Given the description of an element on the screen output the (x, y) to click on. 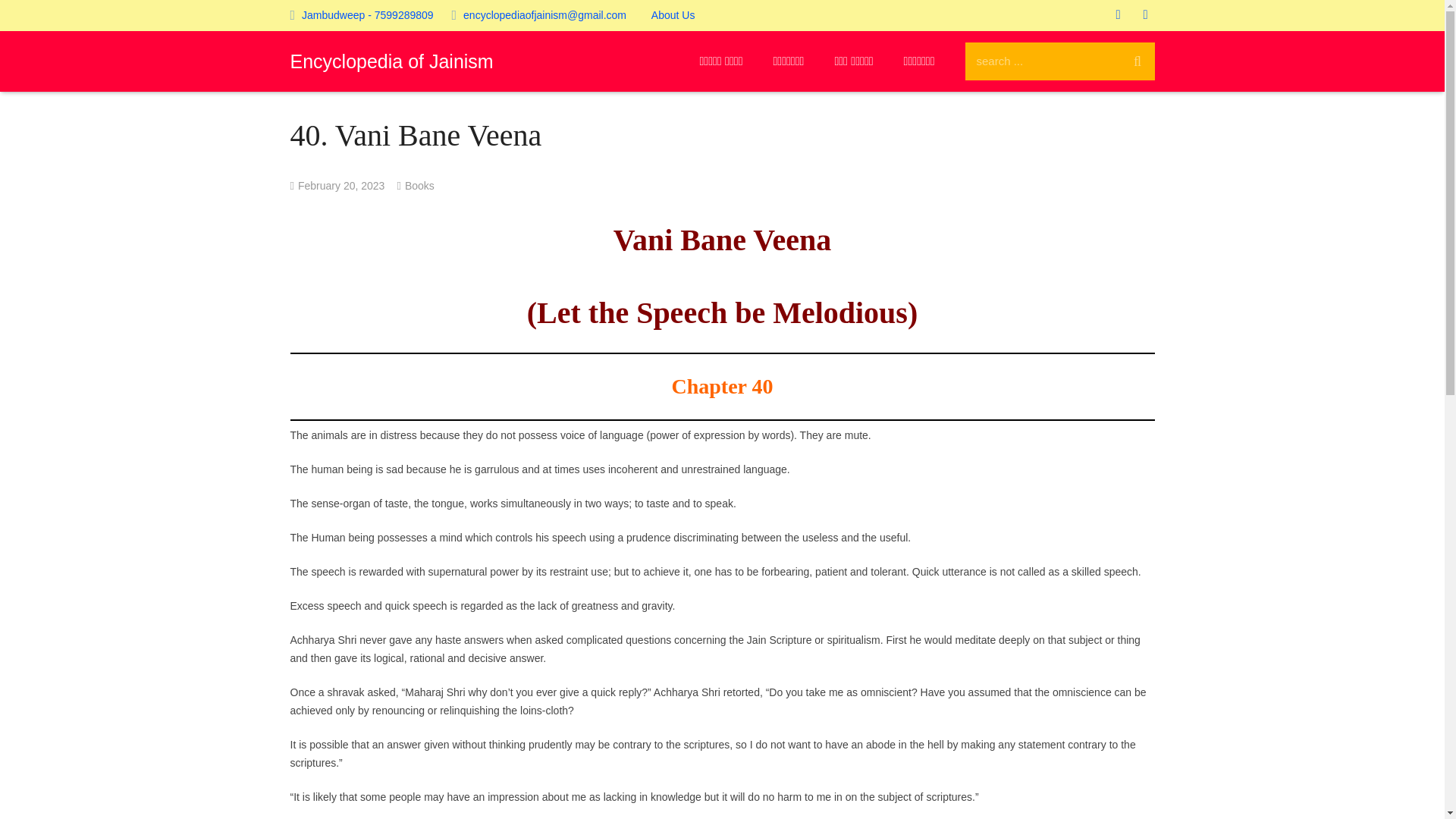
Books (418, 185)
About Us (672, 15)
Encyclopedia of Jainism (391, 61)
